Given the description of an element on the screen output the (x, y) to click on. 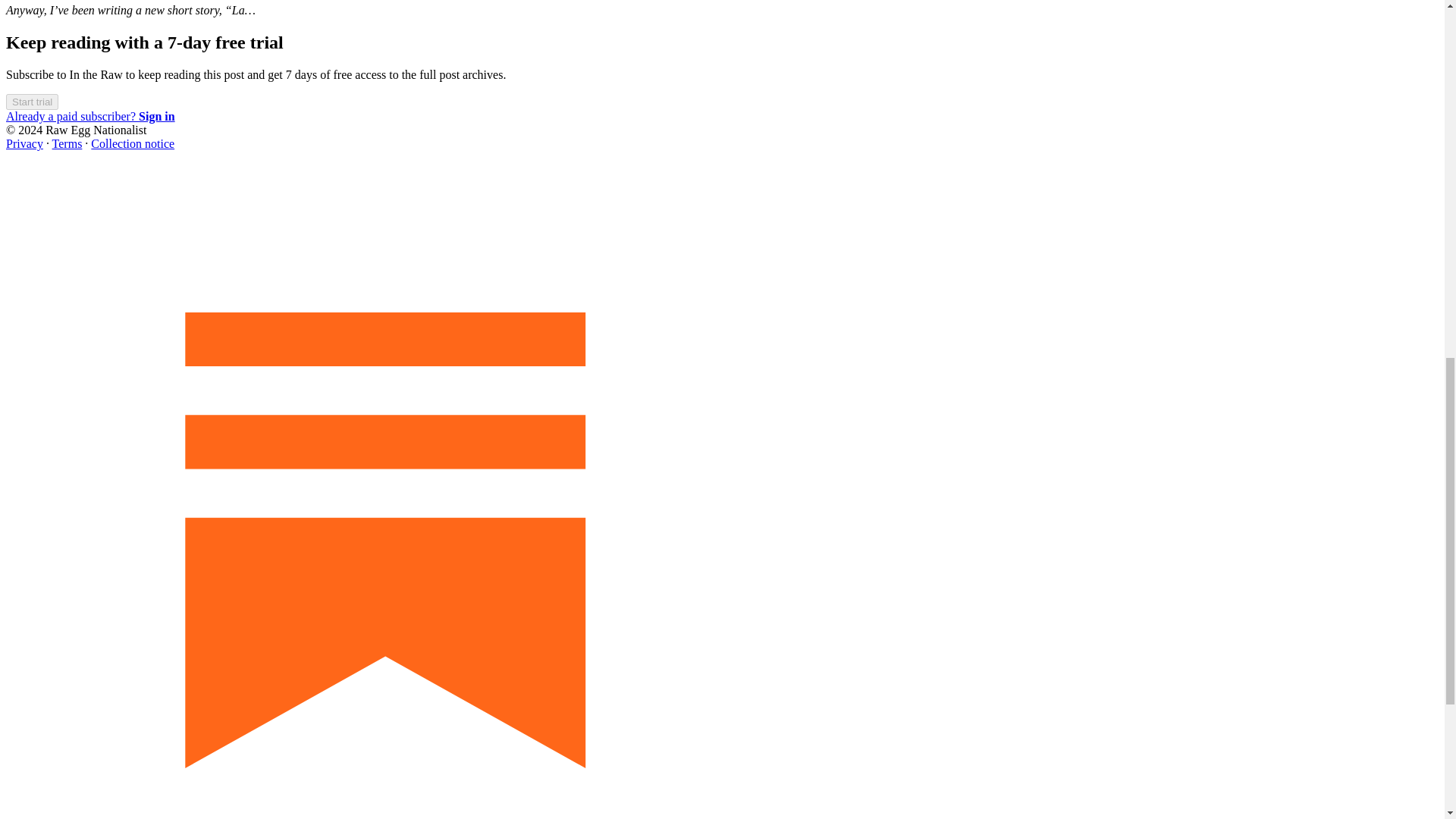
Terms (67, 143)
Collection notice (132, 143)
Start trial (31, 101)
Already a paid subscriber? Sign in (89, 115)
Privacy (24, 143)
Start trial (31, 101)
